Given the description of an element on the screen output the (x, y) to click on. 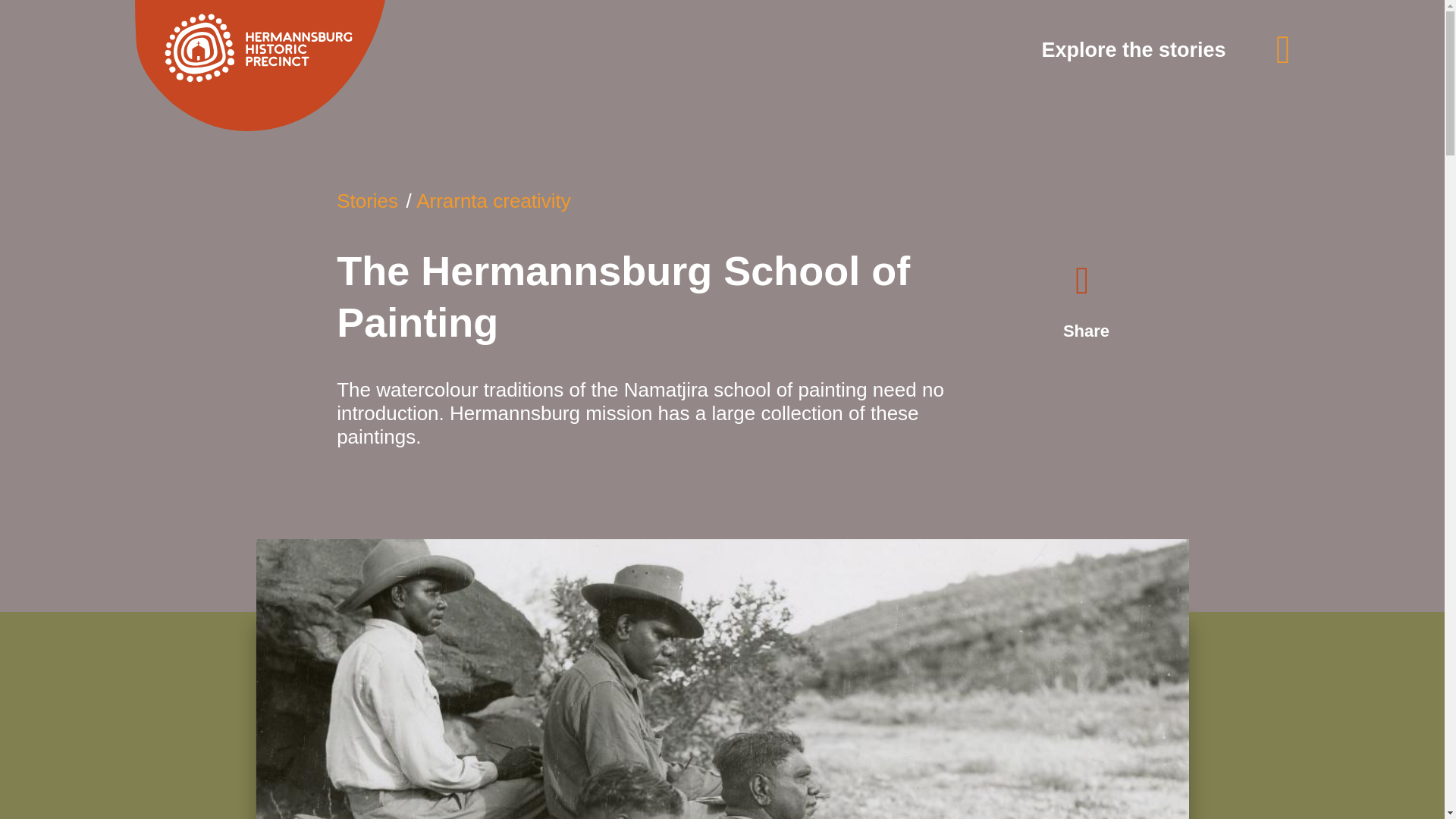
Arrarnta creativity (493, 200)
Hermannsburg Historic Precinct Home (260, 65)
Stories (366, 200)
Hermannsburg Historic Precinct Home (317, 65)
